Given the description of an element on the screen output the (x, y) to click on. 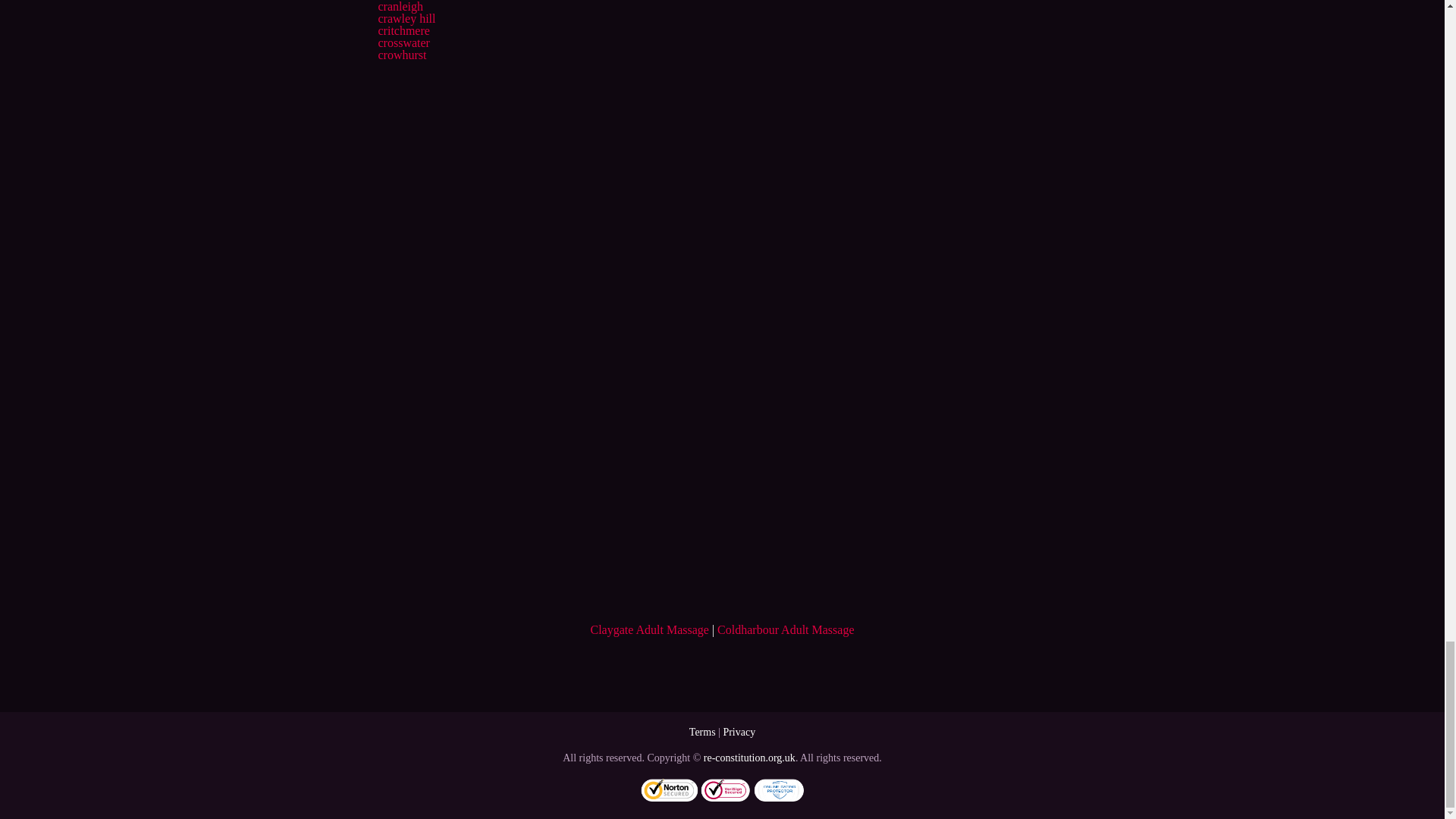
Claygate Adult Massage (648, 629)
cranleigh (400, 6)
crawley hill (406, 18)
re-constitution.org.uk (748, 757)
crowhurst (401, 54)
Terms (702, 731)
Coldharbour Adult Massage (785, 629)
Terms (702, 731)
Privacy (738, 731)
Privacy (738, 731)
cramhurst (401, 0)
critchmere (403, 30)
crosswater (403, 42)
